Given the description of an element on the screen output the (x, y) to click on. 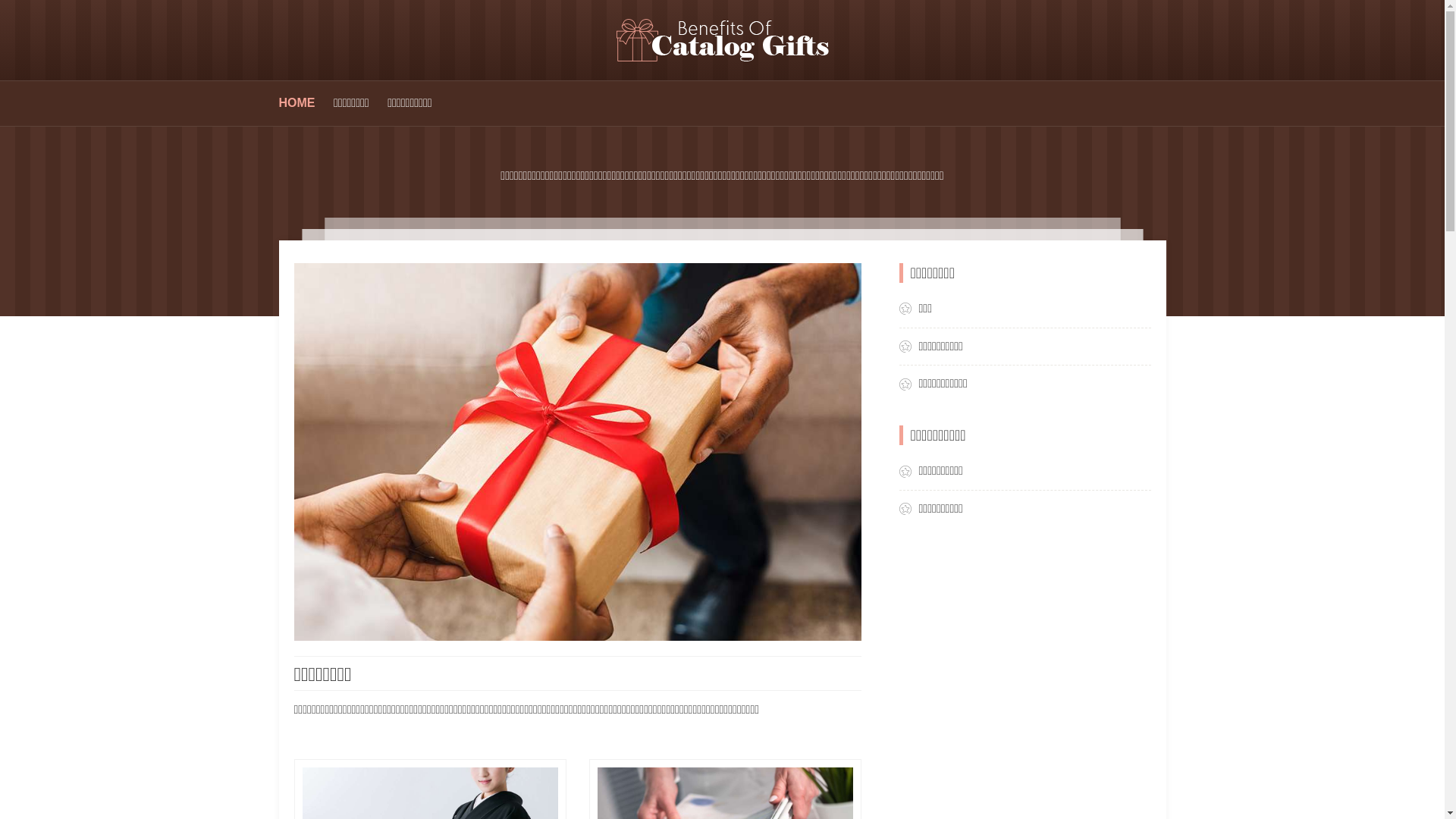
HOME Element type: text (297, 103)
